Given the description of an element on the screen output the (x, y) to click on. 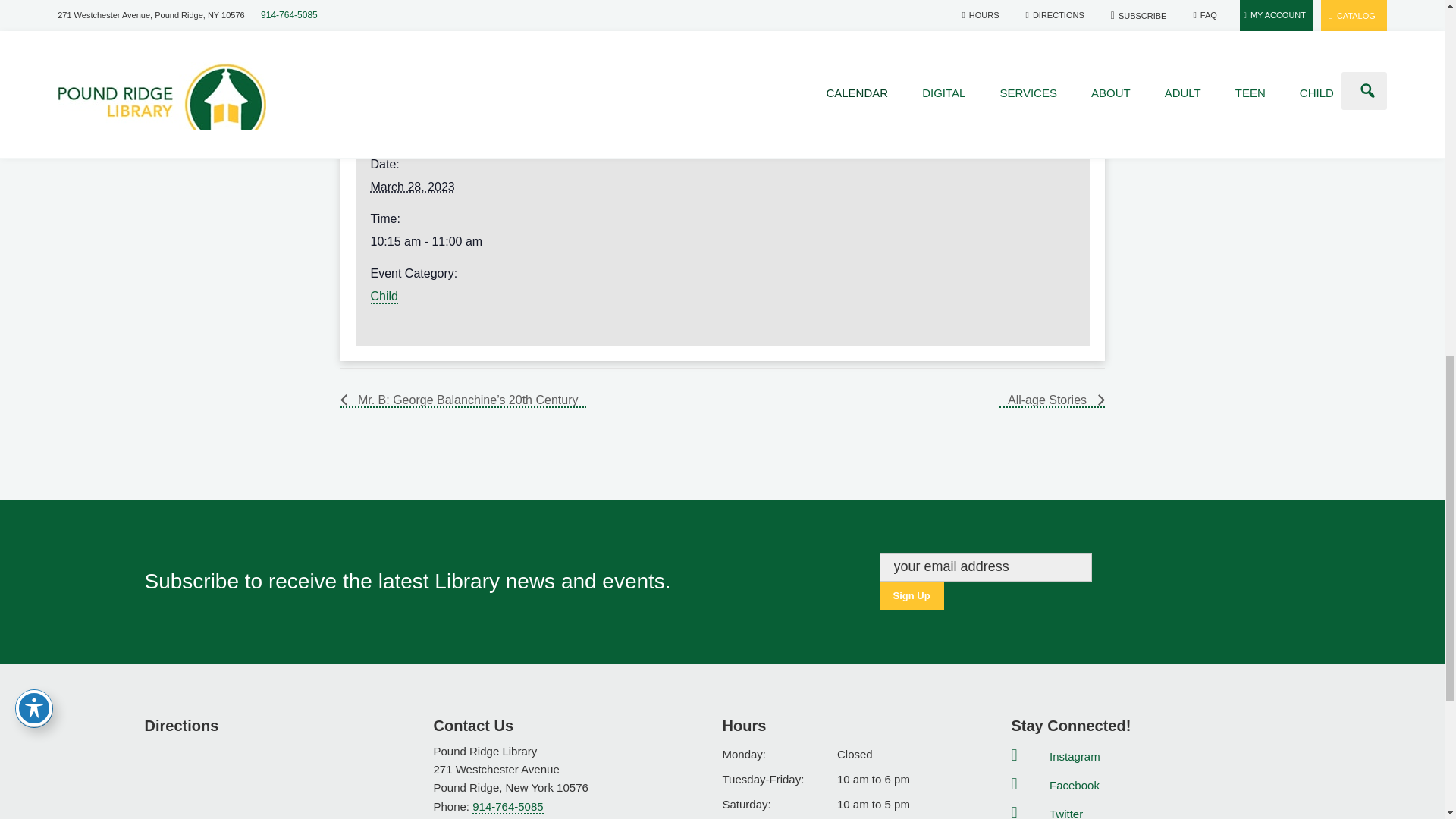
2023-03-28 (712, 241)
Sign Up (911, 595)
2023-03-28 (411, 186)
